Given the description of an element on the screen output the (x, y) to click on. 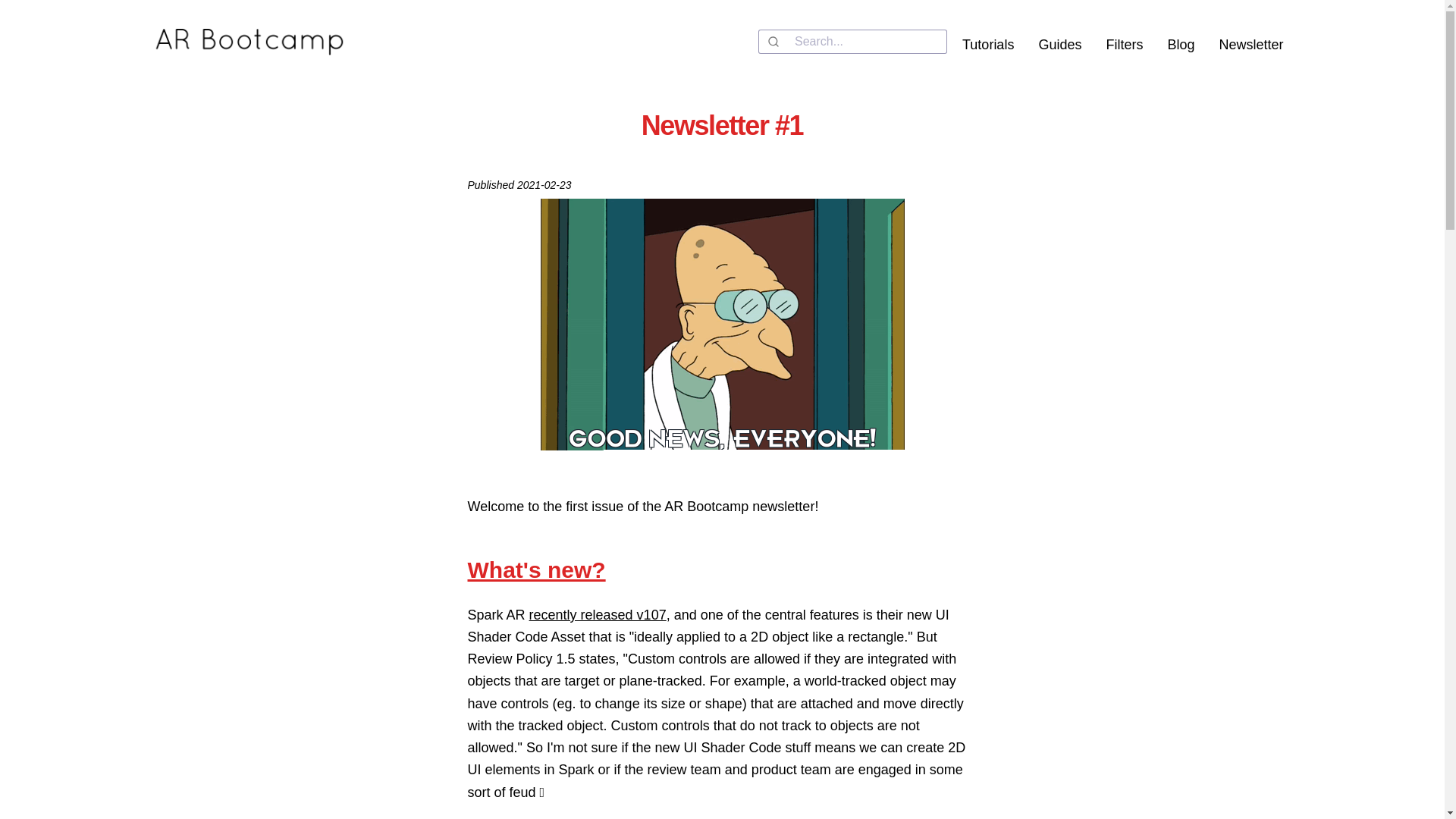
Tutorials (985, 44)
Filters (1120, 44)
recently released v107 (597, 614)
Guides (1056, 44)
Newsletter (1248, 44)
Submit (776, 41)
What's new? (536, 569)
Blog (1177, 44)
